Given the description of an element on the screen output the (x, y) to click on. 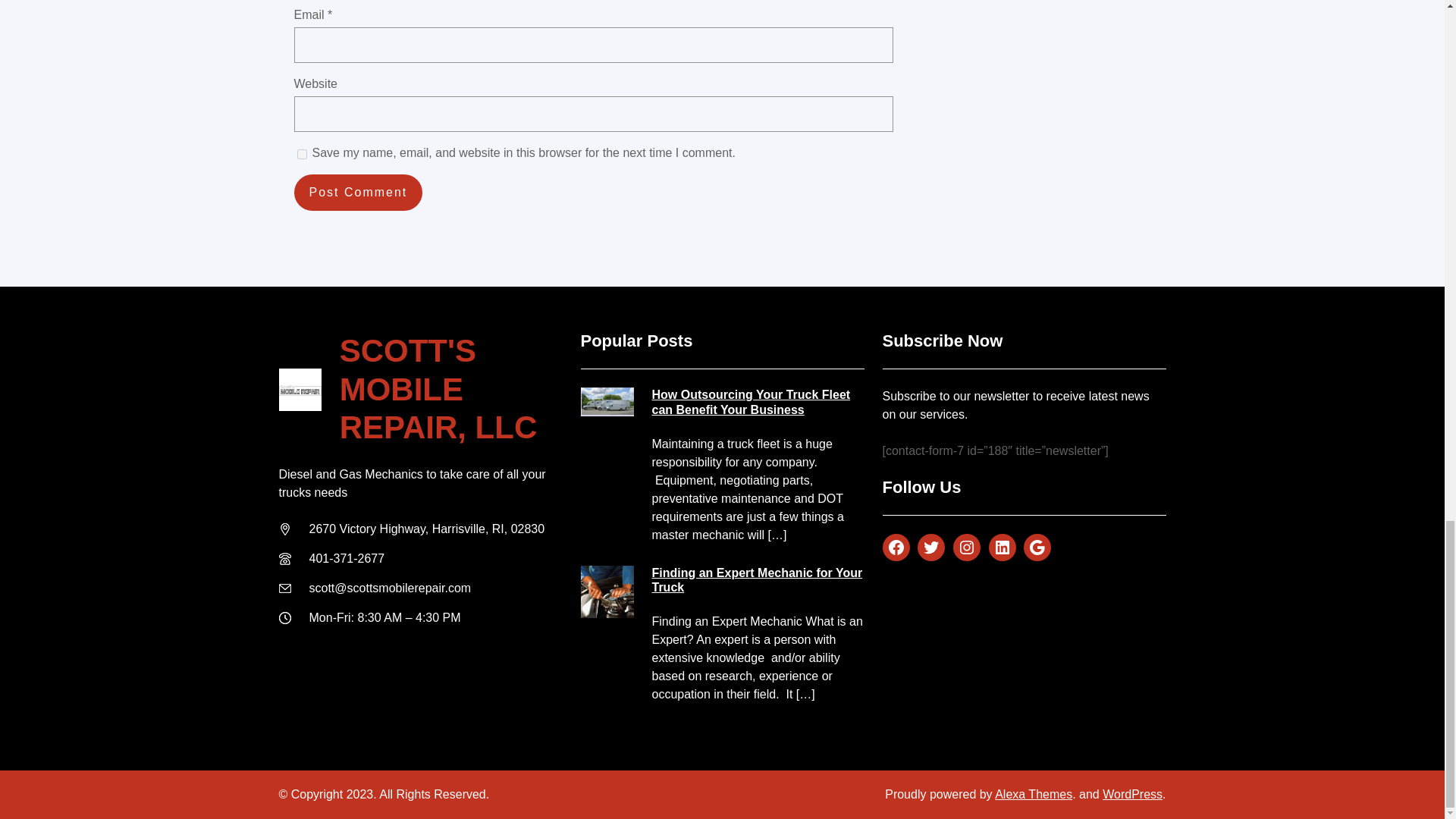
Facebook (896, 547)
Instagram (966, 547)
WordPress (1131, 793)
How Outsourcing Your Truck Fleet can Benefit Your Business (758, 401)
Twitter (930, 547)
SCOTT'S MOBILE REPAIR, LLC (438, 388)
LinkedIn (1002, 547)
Alexa Themes (1032, 793)
Finding an Expert Mechanic for Your Truck (758, 579)
Post Comment (358, 192)
